Given the description of an element on the screen output the (x, y) to click on. 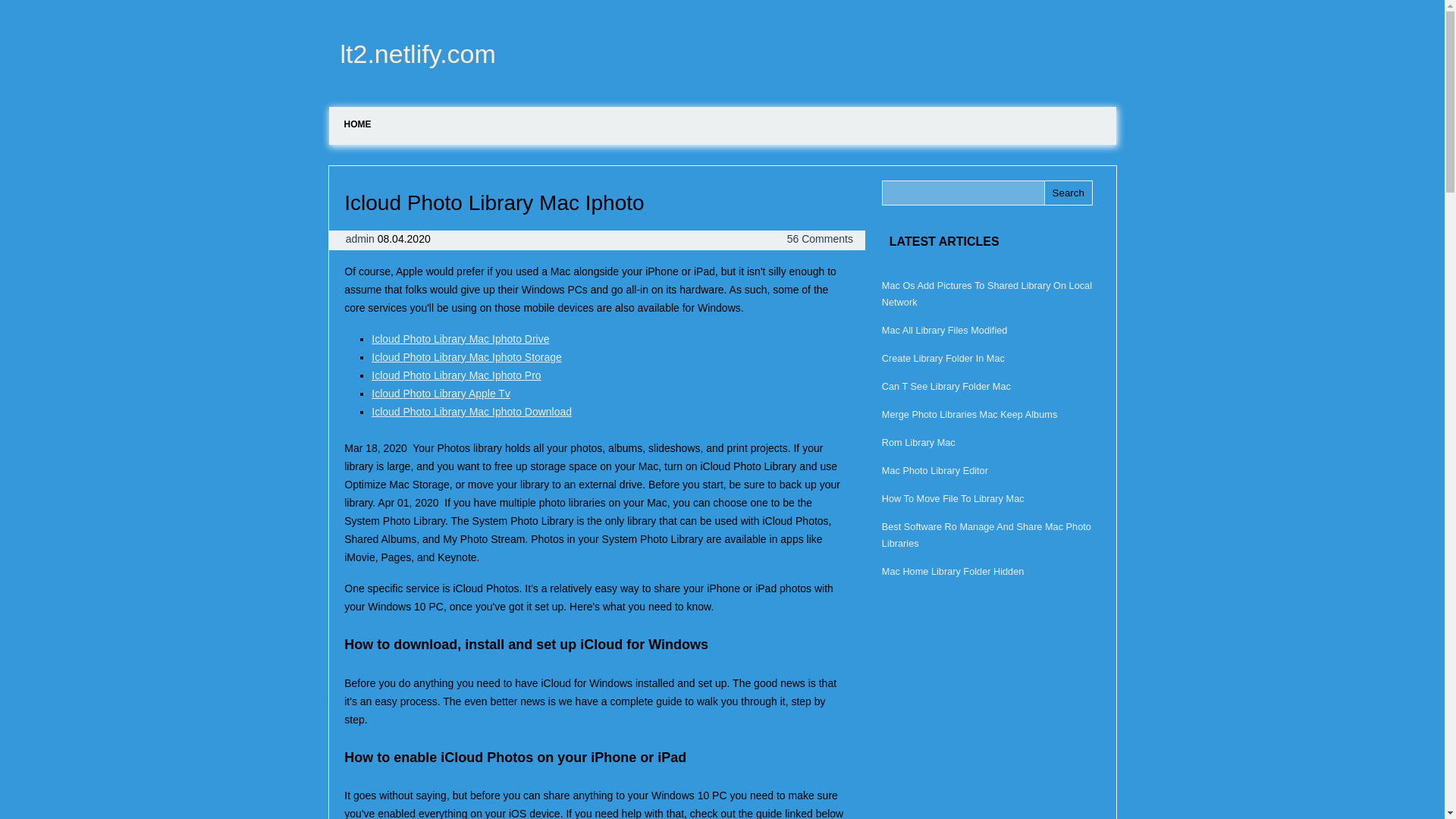
Create Library Folder In Mac (943, 357)
Search (1068, 192)
Icloud Photo Library Mac Iphoto Download (471, 411)
Icloud Photo Library Mac Iphoto Drive (459, 338)
admin  (361, 238)
Best Software Ro Manage And Share Mac Photo Libraries (986, 534)
Icloud Photo Library Apple Tv (441, 393)
Icloud Photo Library Mac Iphoto Storage (466, 357)
lt2.netlify.com (412, 53)
Can T See Library Folder Mac (946, 386)
